Given the description of an element on the screen output the (x, y) to click on. 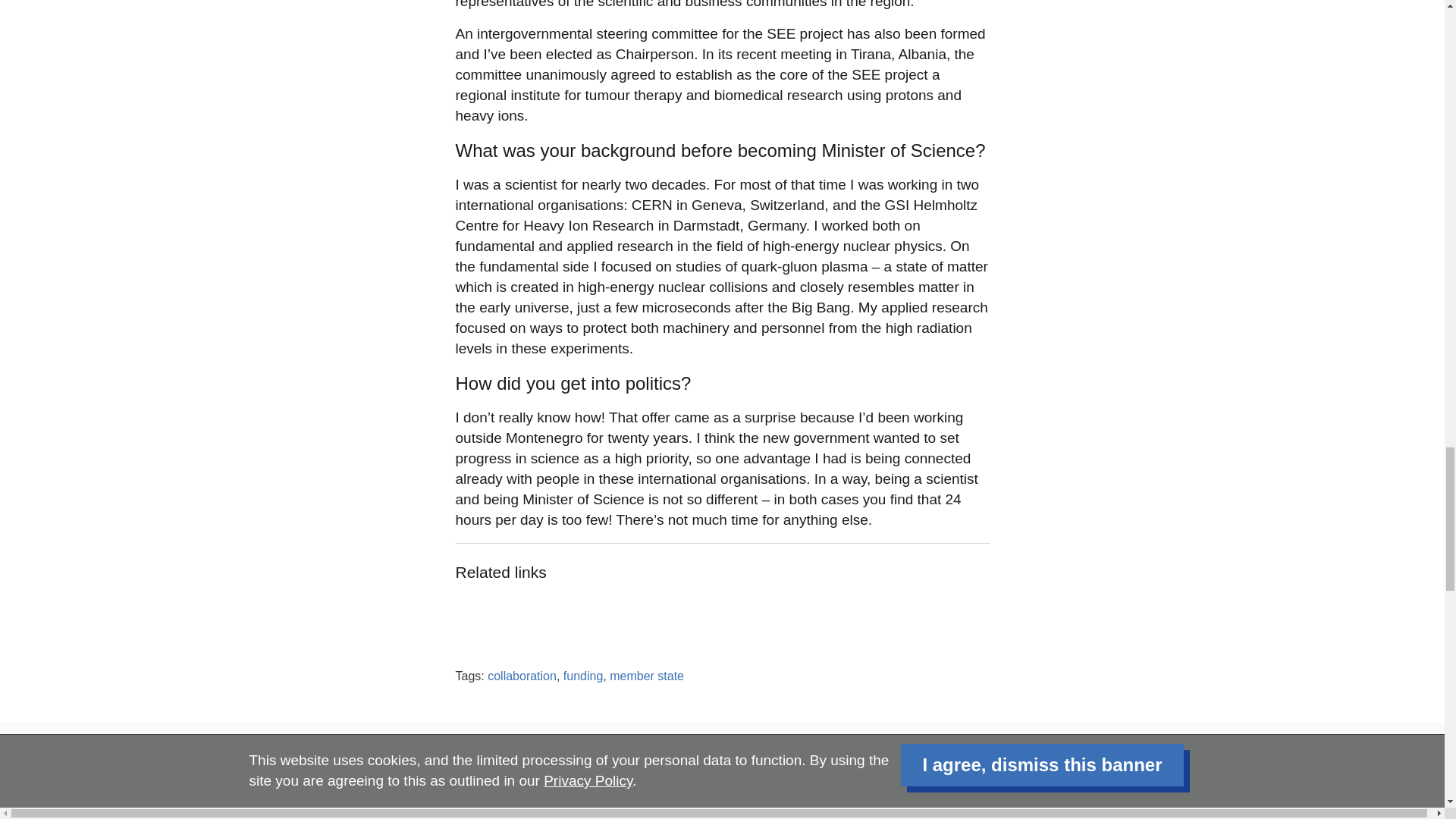
member state (647, 675)
funding (583, 675)
collaboration (521, 675)
